Given the description of an element on the screen output the (x, y) to click on. 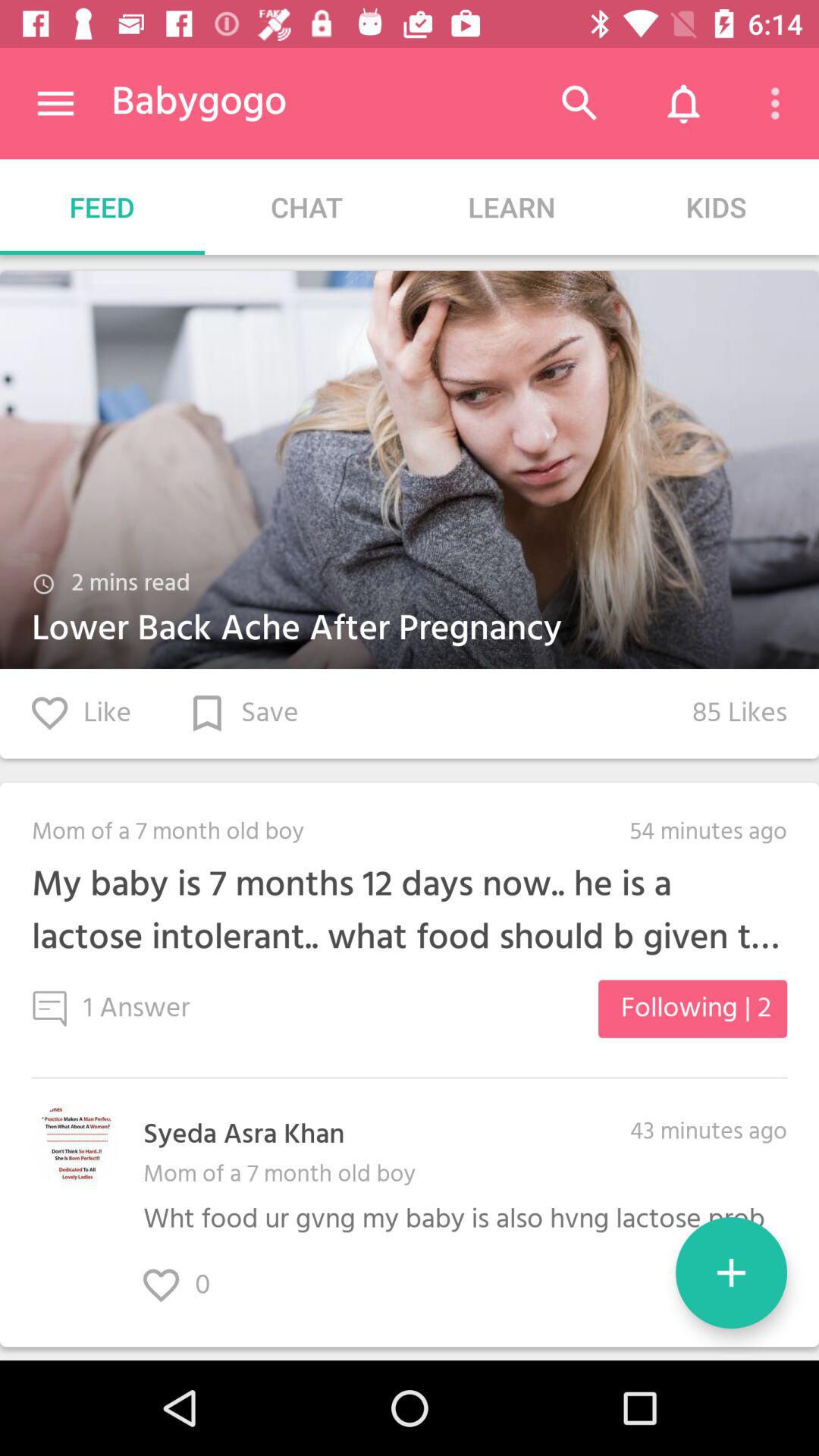
turn on the item next to babygogo (55, 103)
